Given the description of an element on the screen output the (x, y) to click on. 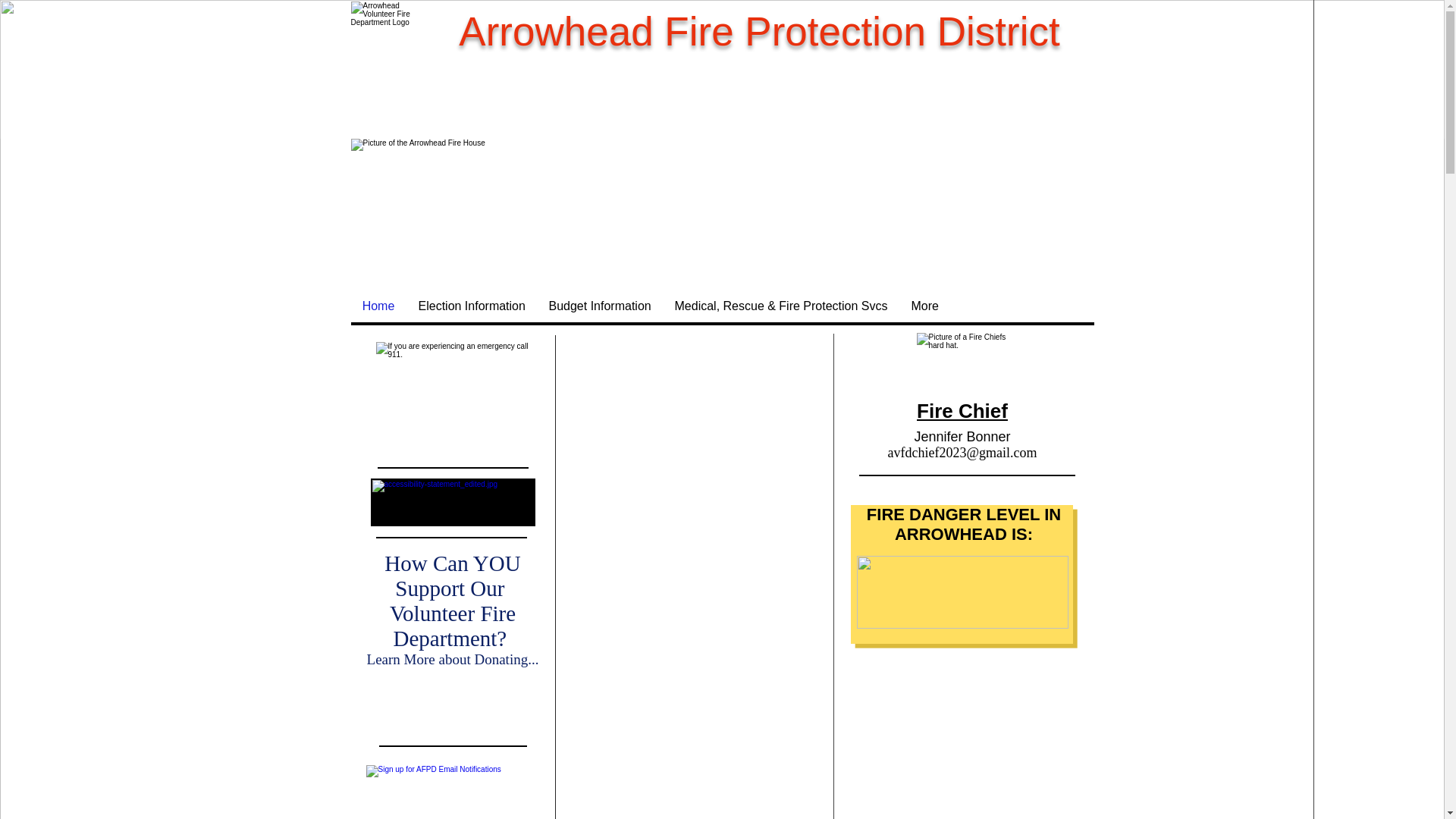
Home (378, 305)
Click Here (452, 706)
Election Information (471, 305)
Budget Information (599, 305)
Fire Danger -High.JPG (962, 592)
